Given the description of an element on the screen output the (x, y) to click on. 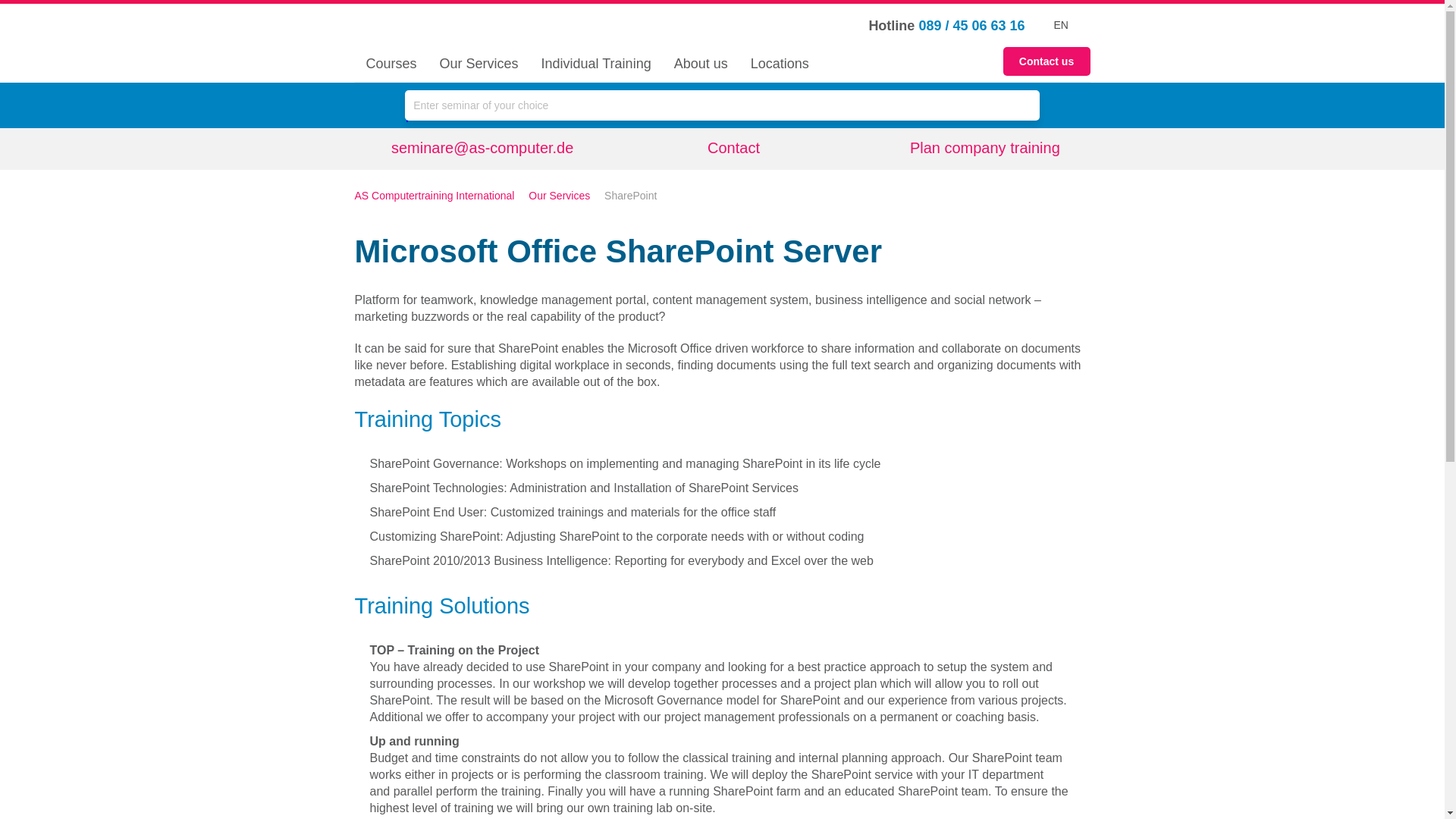
Contact (722, 148)
Plan company training (972, 148)
Individual Training (595, 63)
Our Services (478, 63)
Courses (391, 63)
About us (700, 63)
Search (1022, 104)
Contact us (1046, 61)
Locations (780, 63)
